Given the description of an element on the screen output the (x, y) to click on. 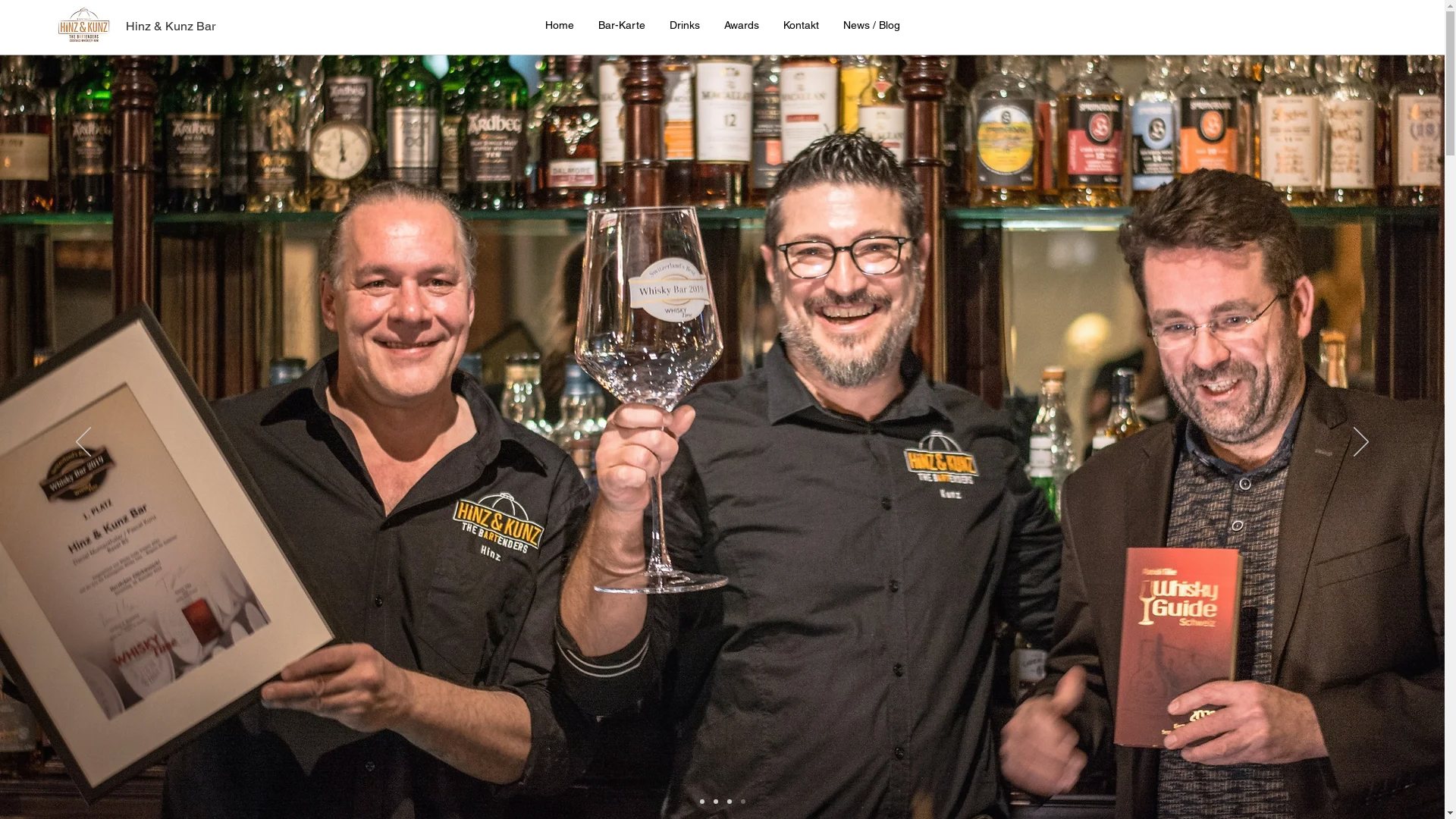
Kontakt Element type: text (800, 24)
Awards Element type: text (740, 24)
Home Element type: text (558, 24)
Bar-Karte Element type: text (620, 24)
Drinks Element type: text (683, 24)
News / Blog Element type: text (871, 24)
